Given the description of an element on the screen output the (x, y) to click on. 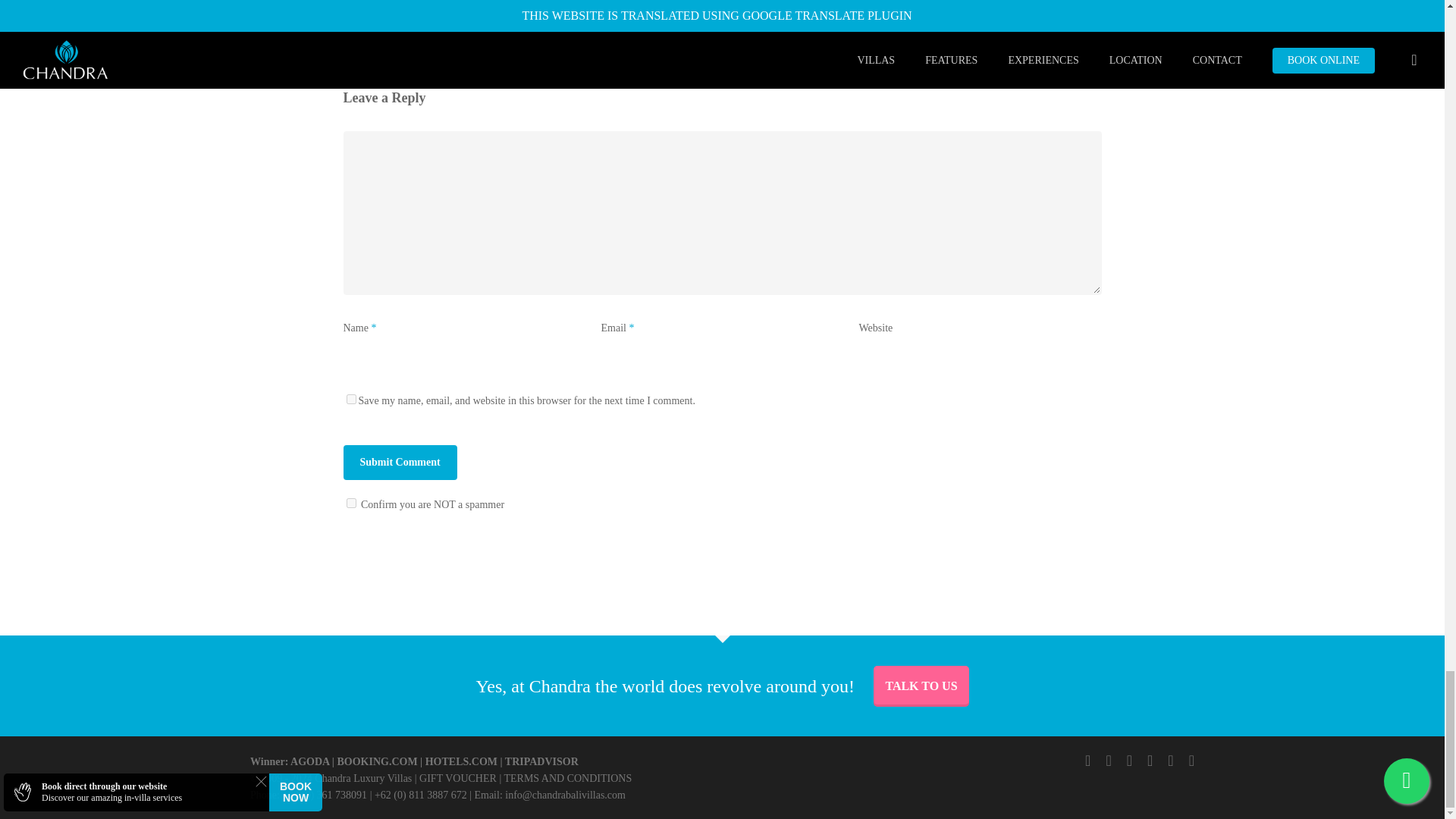
on (350, 502)
yes (350, 398)
Submit Comment (399, 462)
